Given the description of an element on the screen output the (x, y) to click on. 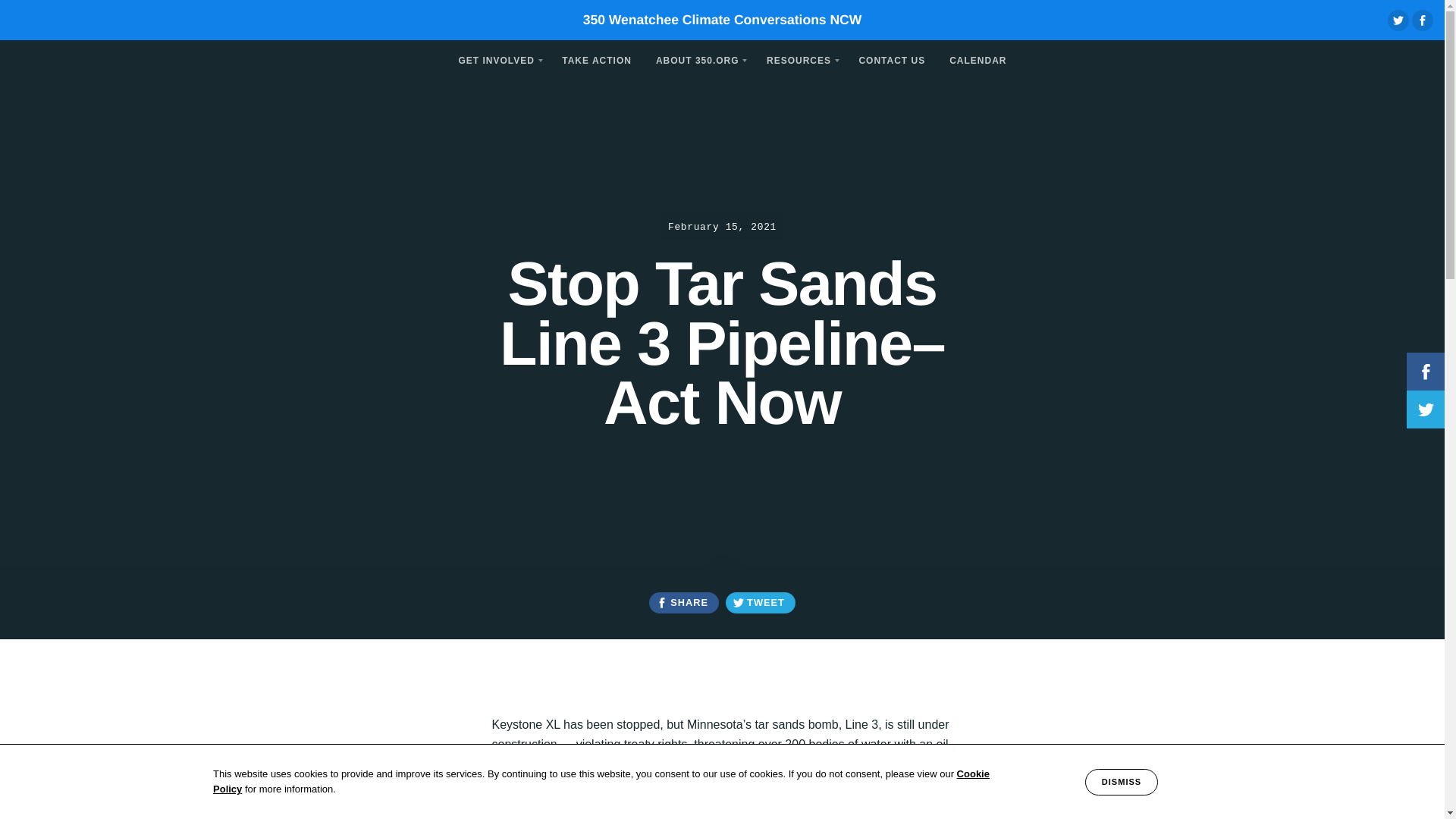
Twitter (1398, 20)
TWEET (759, 602)
CALENDAR (977, 60)
Cookie Policy (601, 781)
ABOUT 350.ORG (698, 60)
Facebook (1422, 20)
RESOURCES (799, 60)
GET INVOLVED (497, 60)
TAKE ACTION (596, 60)
DISMISS (1120, 782)
SHARE (683, 602)
350 Wenatchee Climate Conversations NCW (722, 20)
CONTACT US (891, 60)
